Given the description of an element on the screen output the (x, y) to click on. 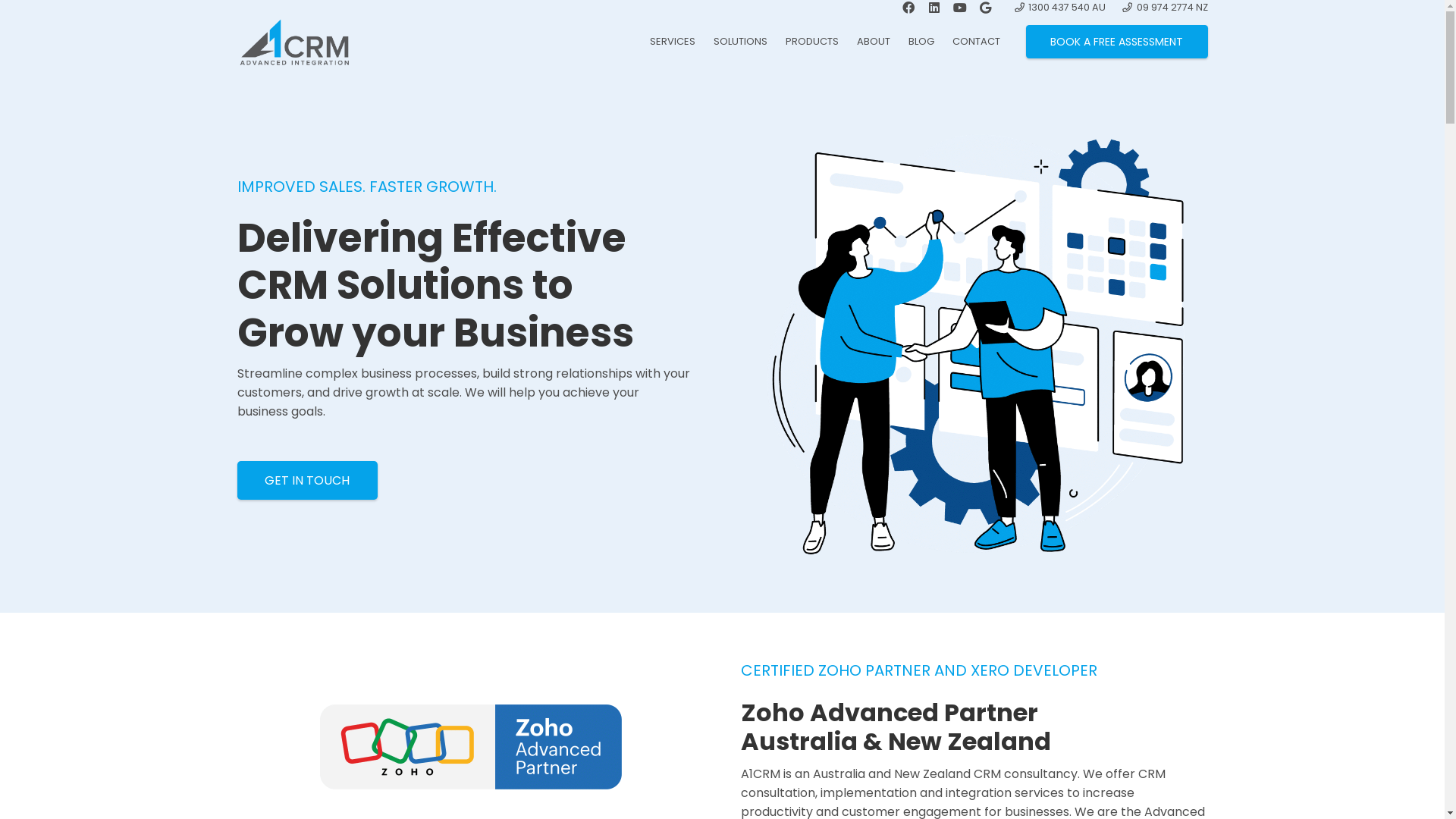
5 Things Every Zoho Implementation Needs Element type: text (678, 581)
info@a1crm.net Element type: text (307, 637)
1300 437 540 AU Element type: text (1059, 6)
PRODUCTS Element type: text (811, 41)
GET IN TOUCH Element type: text (306, 480)
0391228154 Melbourne Element type: text (325, 606)
099742774 Auckland Element type: text (320, 587)
Exploring the Unique Features of Pipedrive CRM Element type: text (687, 459)
BLOG Element type: text (921, 41)
Products Element type: text (930, 555)
Eastern Melbourne, Croydon Hills VIC 3136, Australia Element type: text (395, 538)
4 Questions to ask Before Starting CRM Training Element type: text (688, 547)
U1/28 Cavendish Rd, Coorparoo QLD 4151, Australia Element type: text (393, 458)
CONTACT Element type: text (976, 41)
1300437540 Brisbane Element type: text (321, 568)
Facebook Element type: hover (248, 679)
Privacy Policy Element type: text (1017, 785)
ABOUT Element type: text (873, 41)
Google Element type: hover (332, 679)
SERVICES Element type: text (672, 41)
Customers Element type: text (935, 586)
LinkedIn Element type: hover (276, 679)
LightningSites. Element type: text (408, 784)
09 974 2774 NZ Element type: text (1164, 6)
Contact Element type: text (927, 617)
SOLUTIONS Element type: text (740, 41)
Home Element type: text (923, 462)
YouTube Element type: hover (304, 679)
Services AU Element type: text (937, 524)
Terms and Conditions Element type: text (1123, 785)
BOOK A FREE ASSESSMENT Element type: text (1116, 42)
About Element type: text (923, 493)
